Given the description of an element on the screen output the (x, y) to click on. 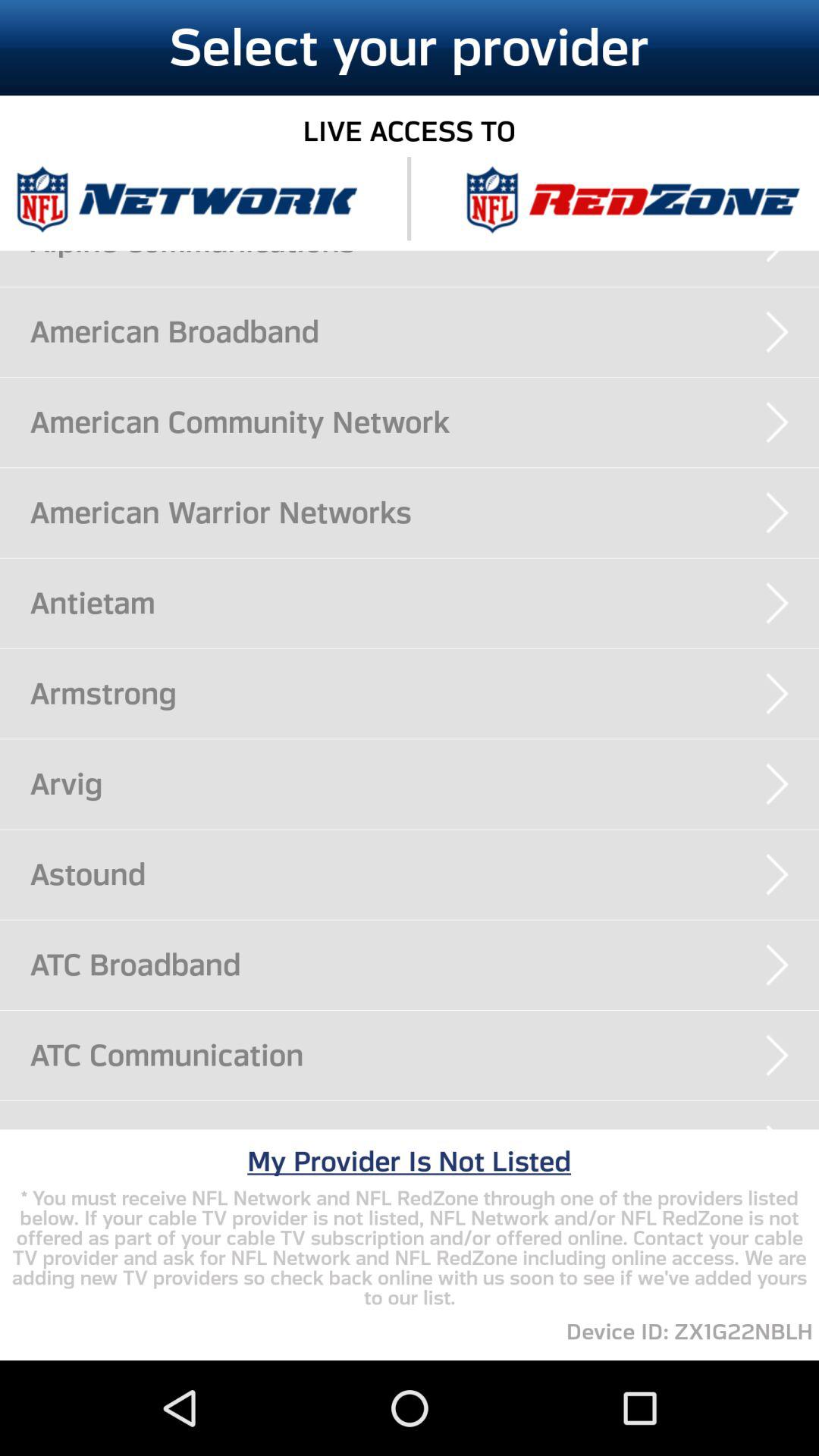
scroll until the armstrong icon (424, 693)
